Given the description of an element on the screen output the (x, y) to click on. 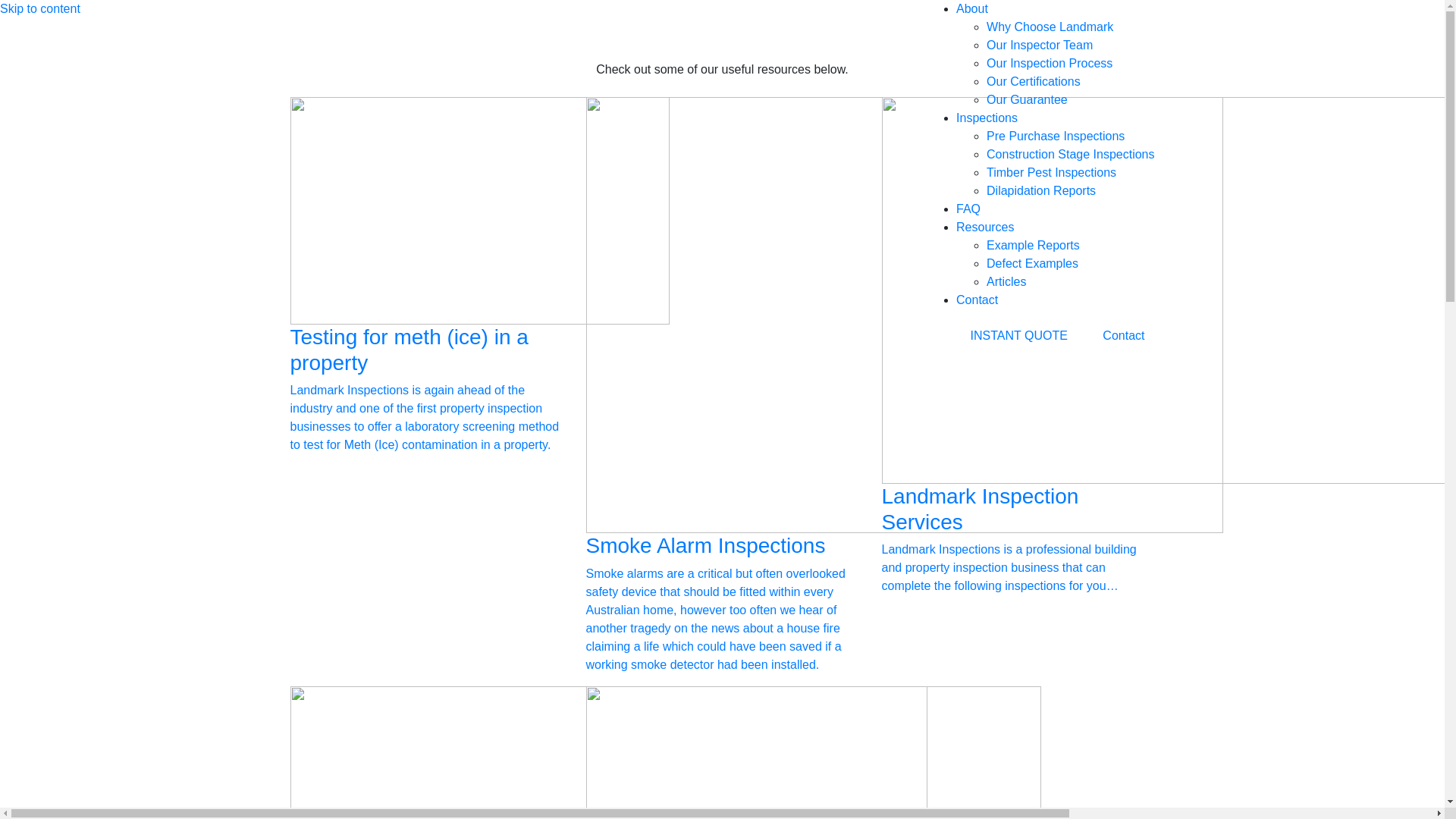
Timber Pest Inspections Element type: text (1051, 172)
Construction Stage Inspections Element type: text (1070, 153)
About Element type: text (972, 8)
Contact Element type: text (1123, 335)
Why Choose Landmark Element type: text (1049, 26)
Example Reports Element type: text (1032, 244)
Contact Element type: text (976, 299)
Our Inspection Process Element type: text (1049, 62)
Pre Purchase Inspections Element type: text (1055, 135)
Our Guarantee Element type: text (1026, 99)
Dilapidation Reports Element type: text (1040, 190)
Our Certifications Element type: text (1033, 81)
INSTANT QUOTE Element type: text (1018, 335)
Inspections Element type: text (986, 117)
Our Inspector Team Element type: text (1039, 44)
Articles Element type: text (1006, 281)
FAQ Element type: text (968, 208)
Defect Examples Element type: text (1032, 263)
Resources Element type: text (984, 226)
Skip to content Element type: text (40, 8)
